Given the description of an element on the screen output the (x, y) to click on. 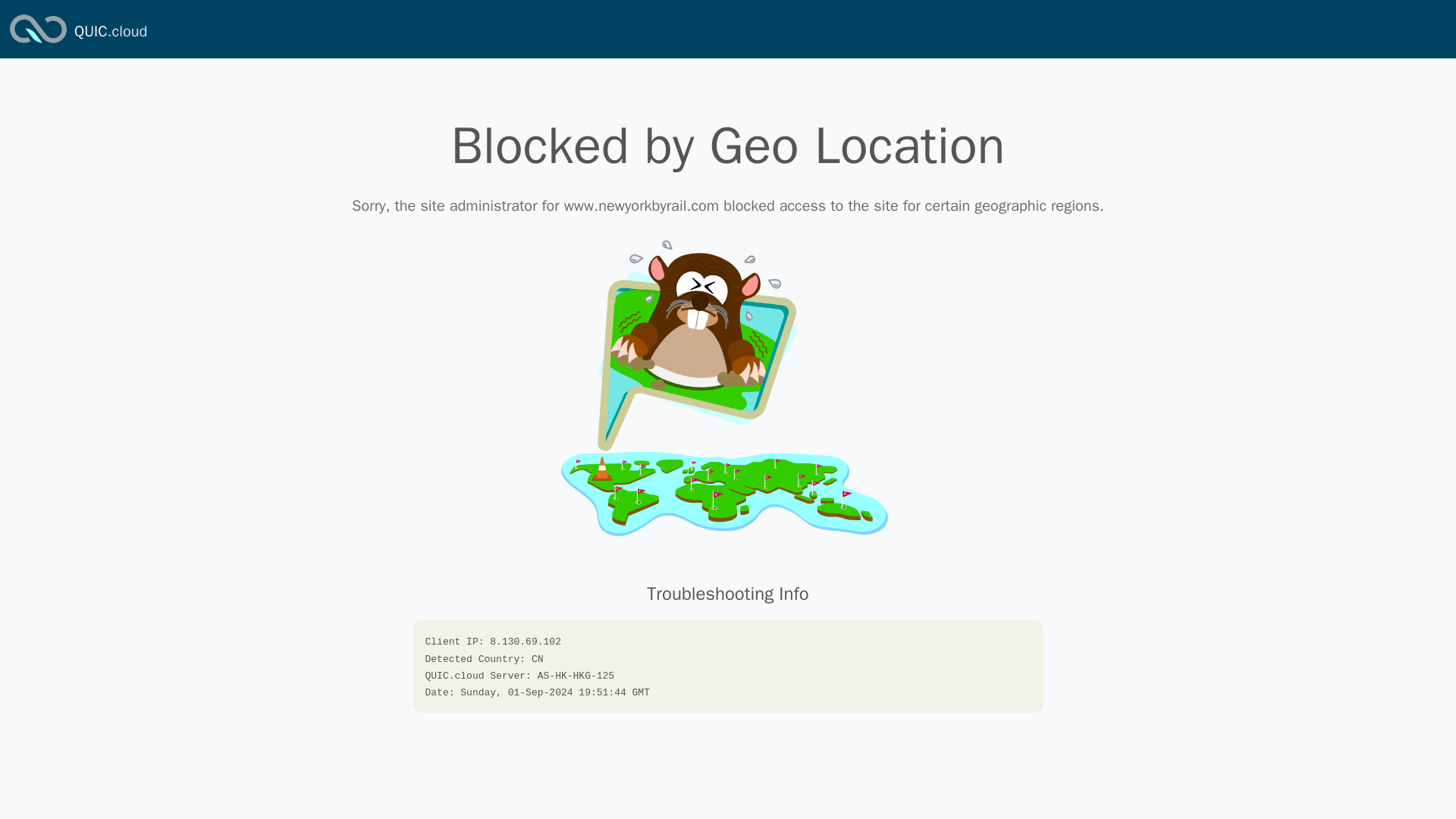
QUIC.cloud (110, 31)
QUIC.cloud (110, 31)
QUIC.cloud (37, 43)
